Given the description of an element on the screen output the (x, y) to click on. 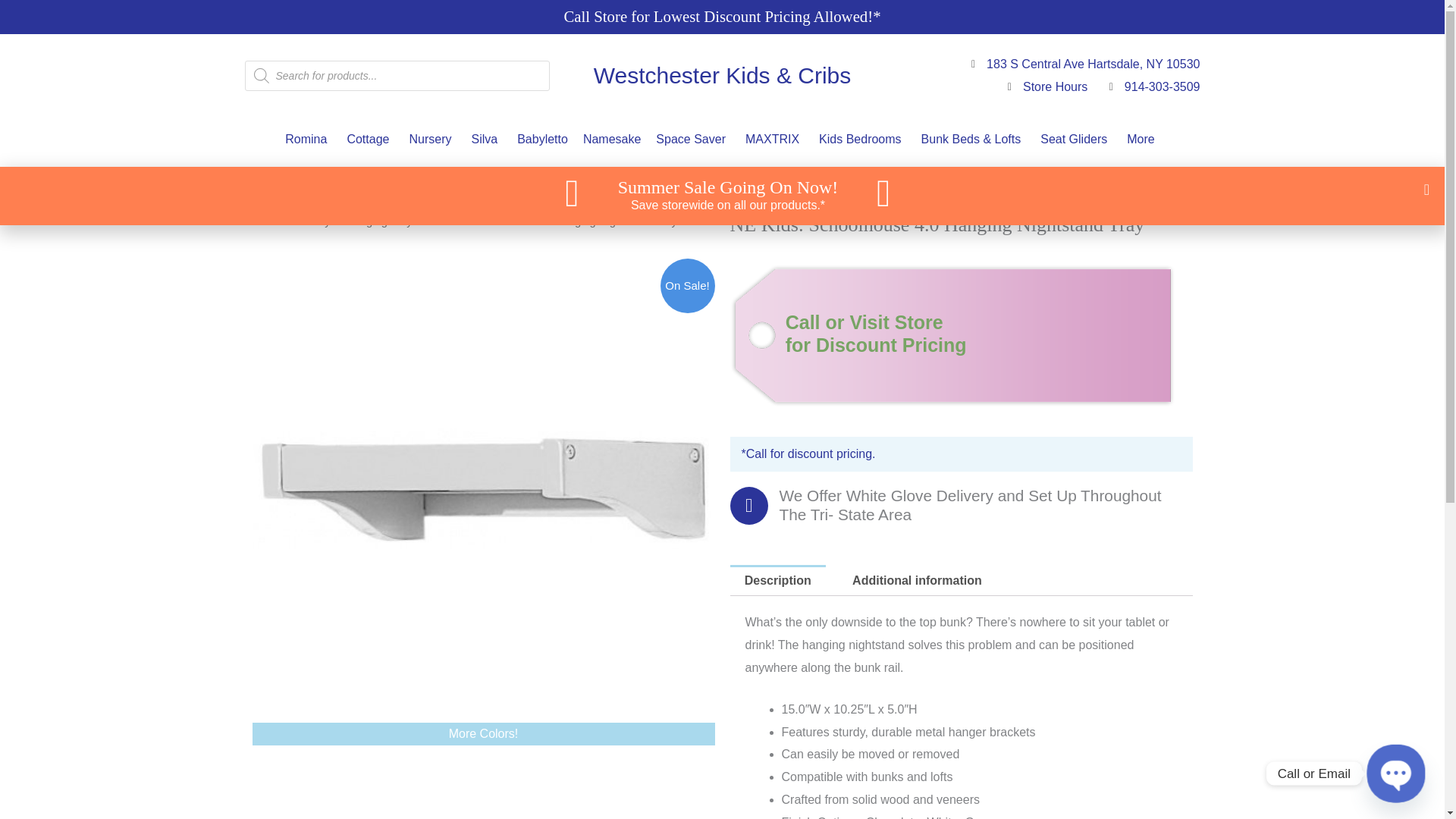
Space Saver (692, 139)
914-303-3509 (1149, 87)
Silva (486, 139)
Babyletto (542, 139)
Namesake (611, 139)
Store Hours (1042, 87)
Romina (308, 139)
183 S Central Ave Hartsdale, NY 10530 (1080, 64)
Cottage (370, 139)
Nursery (432, 139)
